Given the description of an element on the screen output the (x, y) to click on. 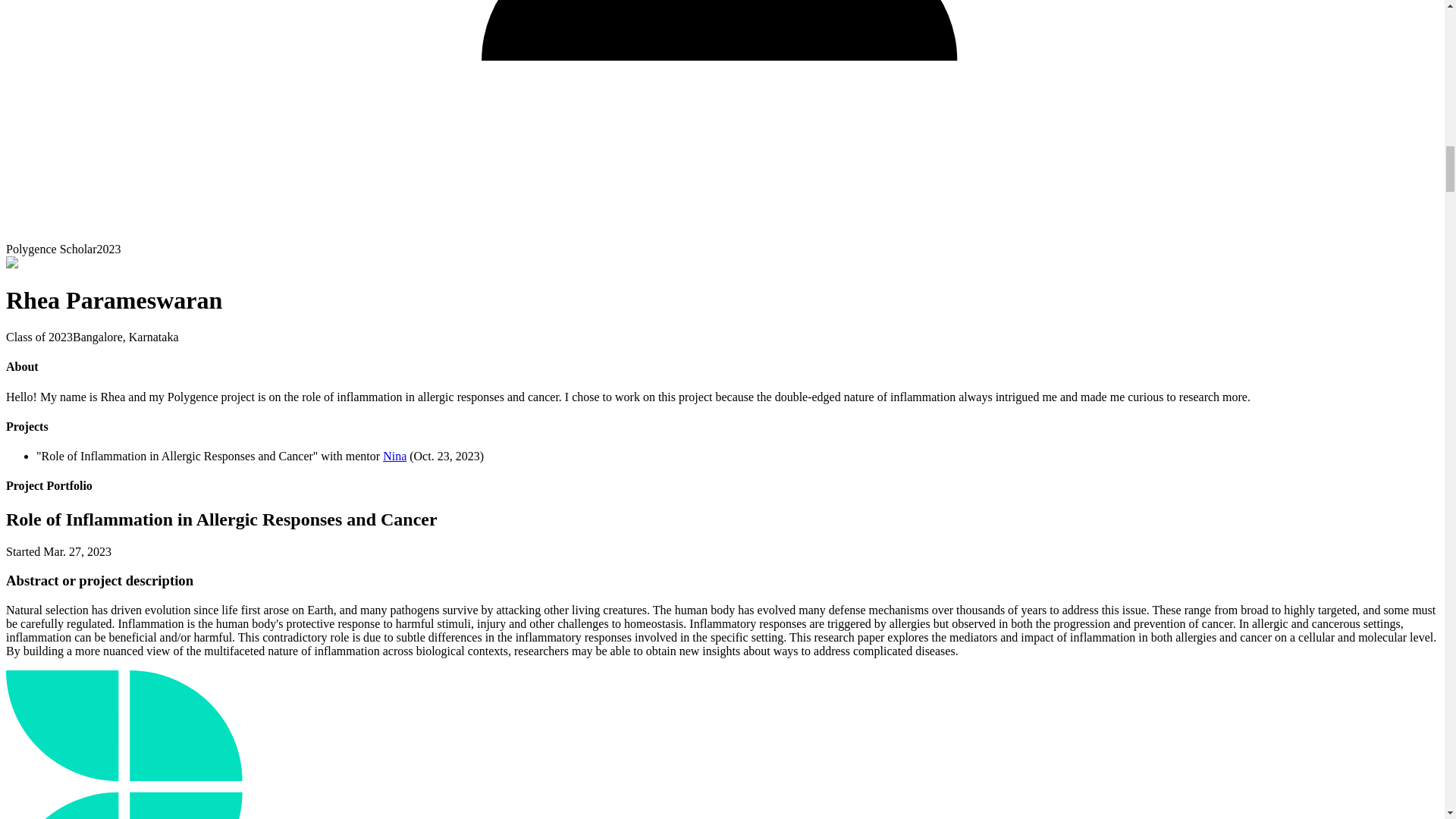
Nina (394, 455)
